Given the description of an element on the screen output the (x, y) to click on. 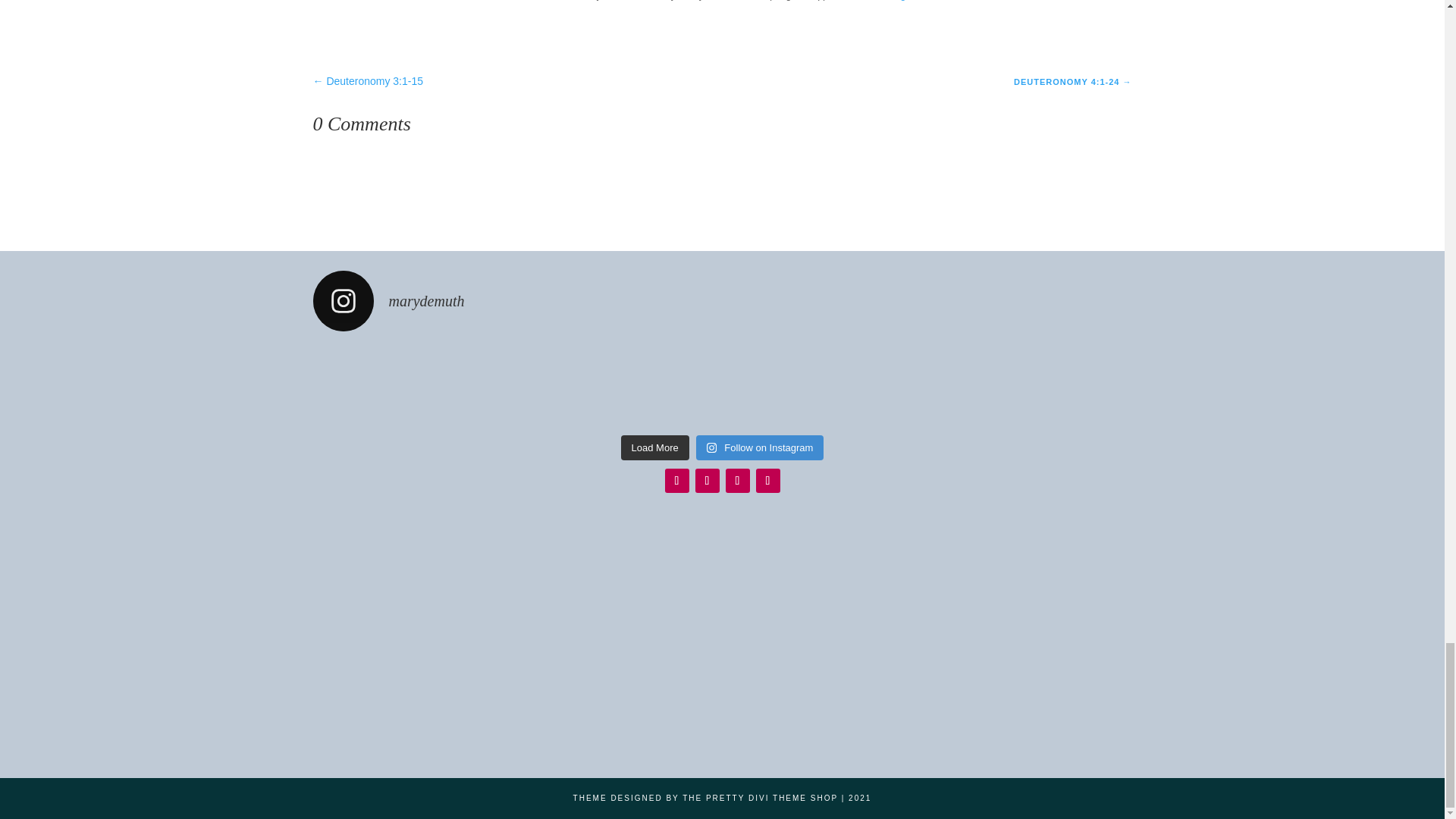
Follow on Instagram (675, 480)
Follow on Twitter (706, 480)
Follow on Facebook (737, 480)
